Given the description of an element on the screen output the (x, y) to click on. 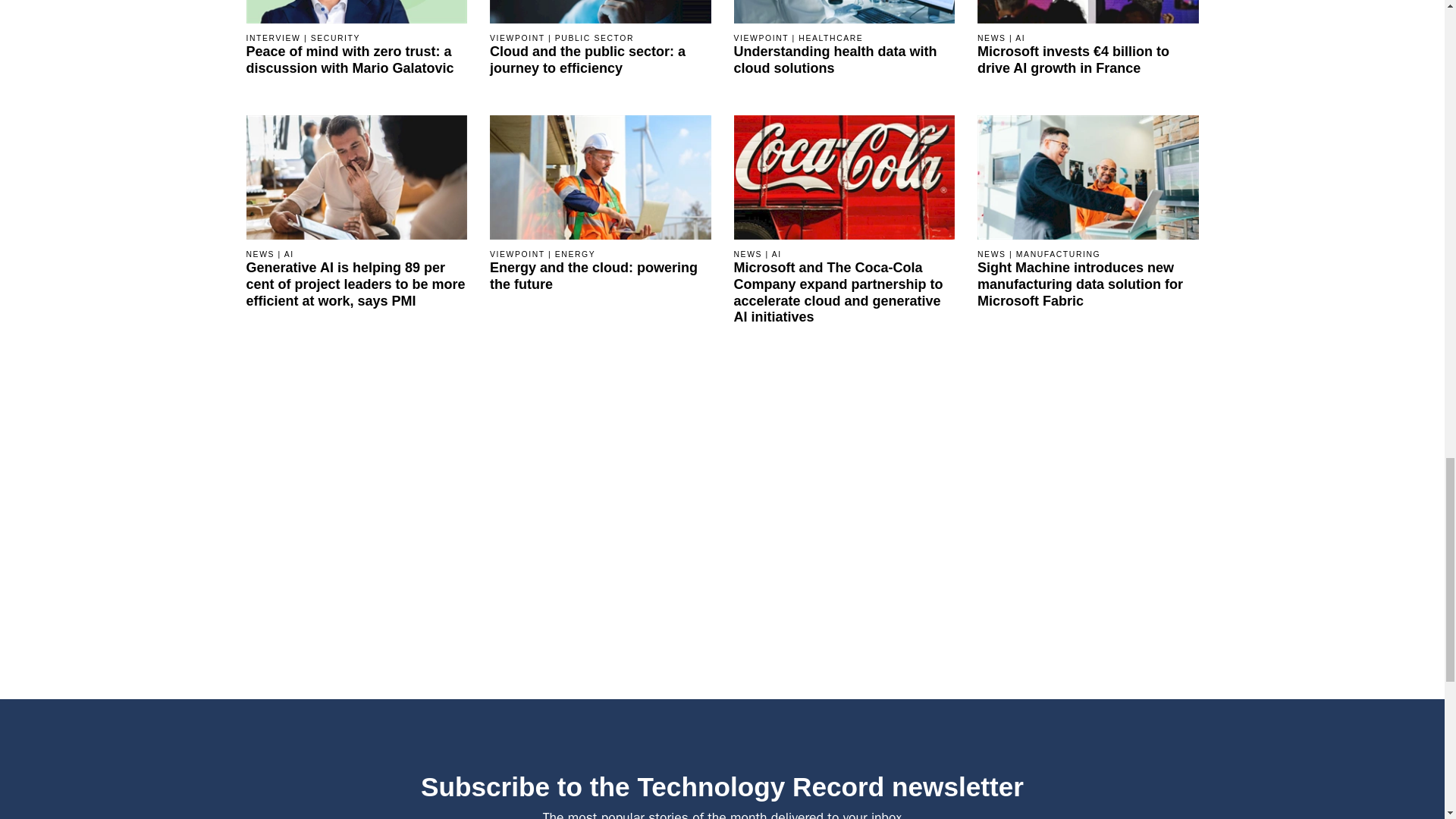
Energy and the cloud: powering the future (600, 276)
Energy and the cloud: powering the future (600, 176)
Understanding health data with cloud solutions (844, 60)
Cloud and the public sector: a journey to efficiency (600, 60)
